Given the description of an element on the screen output the (x, y) to click on. 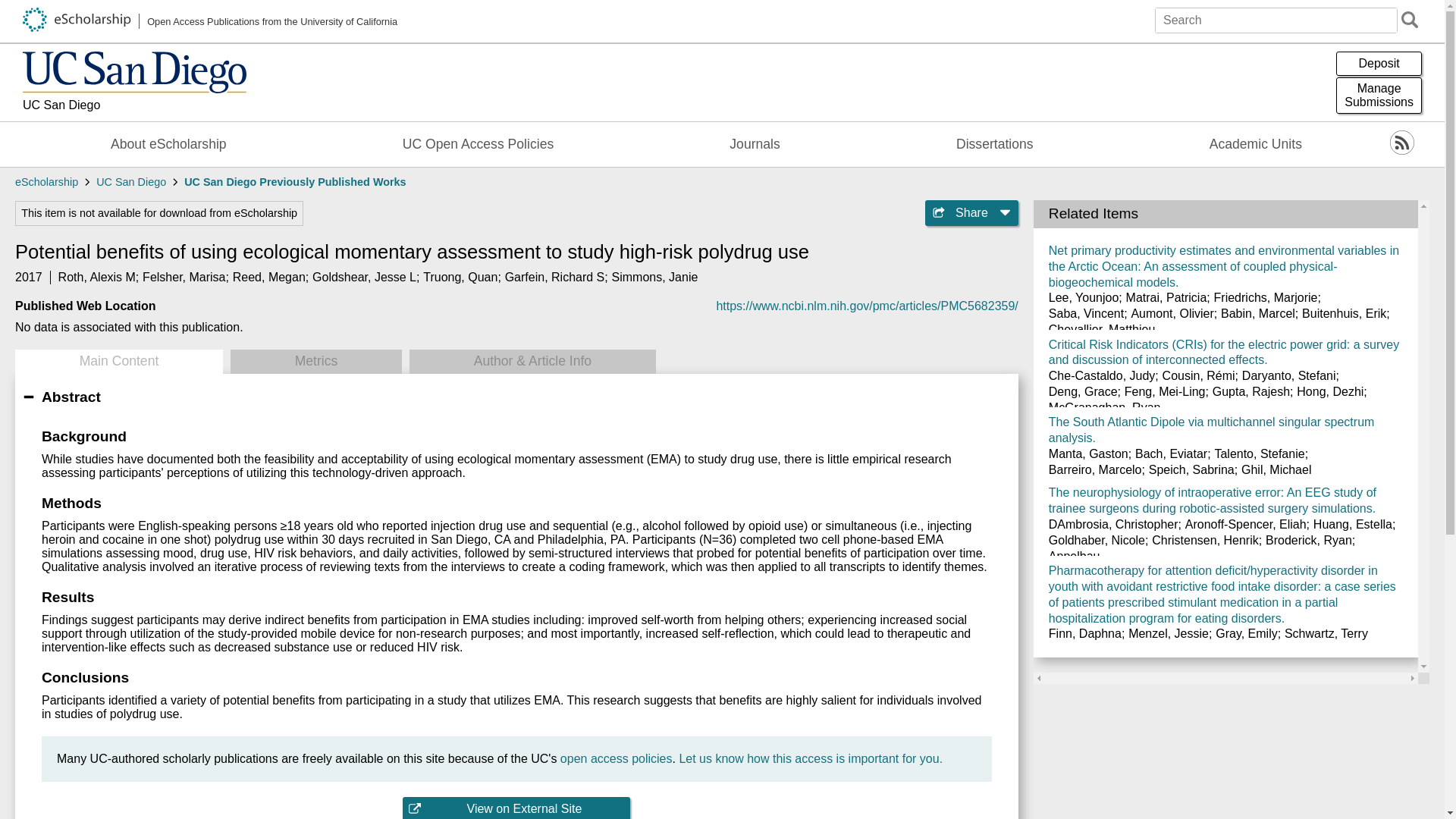
Dissertations (995, 143)
Deposit (1379, 94)
Roth, Alexis M (1379, 63)
Goldshear, Jesse L (96, 277)
Metrics (364, 277)
UC San Diego (315, 361)
Journals (134, 105)
Felsher, Marisa (754, 143)
Main Content (183, 277)
Garfein, Richard S (118, 361)
Academic Units (555, 277)
About eScholarship (1255, 143)
View on External Site (168, 143)
open access policies (516, 807)
